Given the description of an element on the screen output the (x, y) to click on. 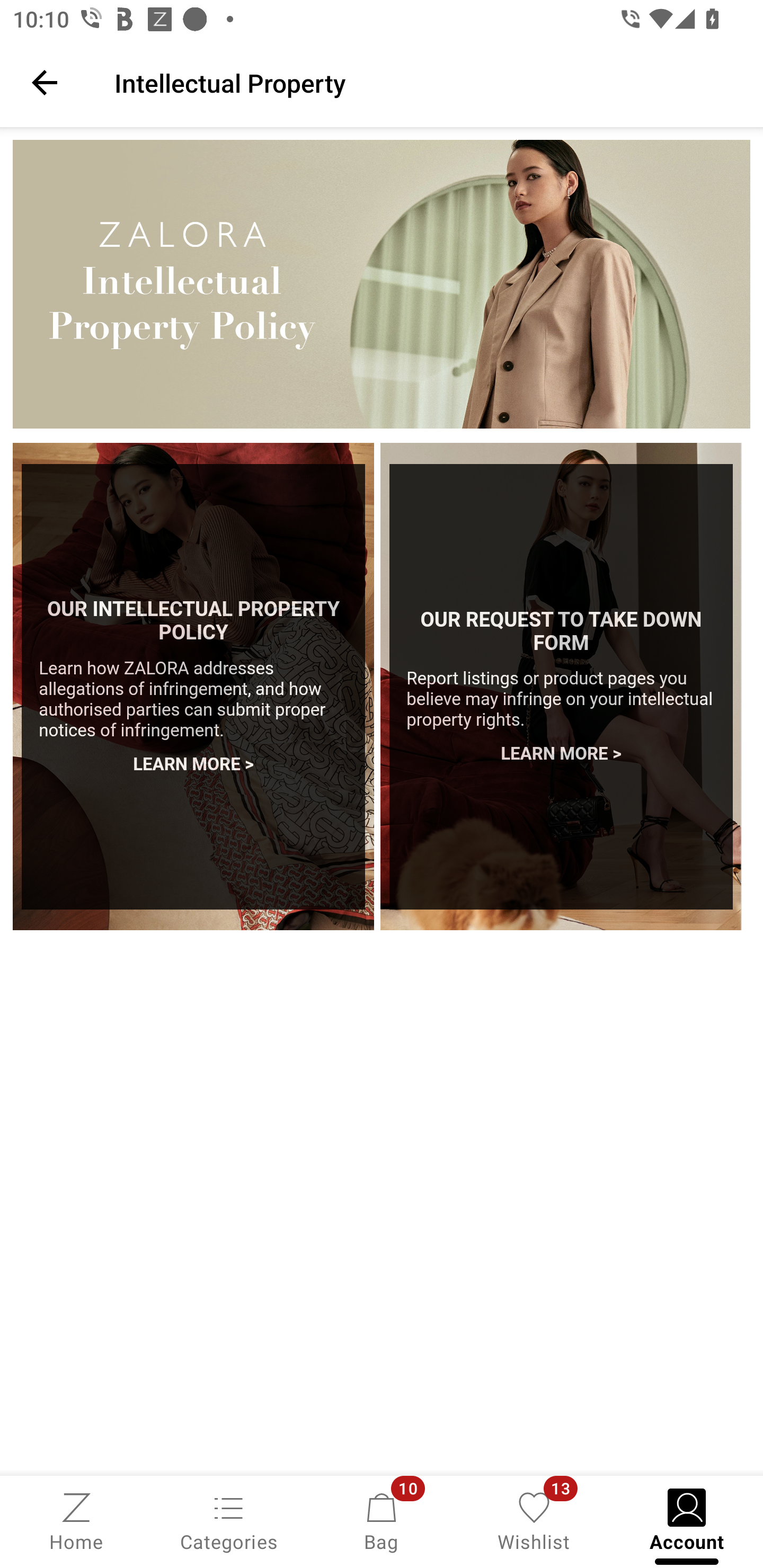
Navigate up (44, 82)
Intellectual Property (426, 82)
Home (76, 1519)
Categories (228, 1519)
Bag, 10 new notifications Bag (381, 1519)
Wishlist, 13 new notifications Wishlist (533, 1519)
